Given the description of an element on the screen output the (x, y) to click on. 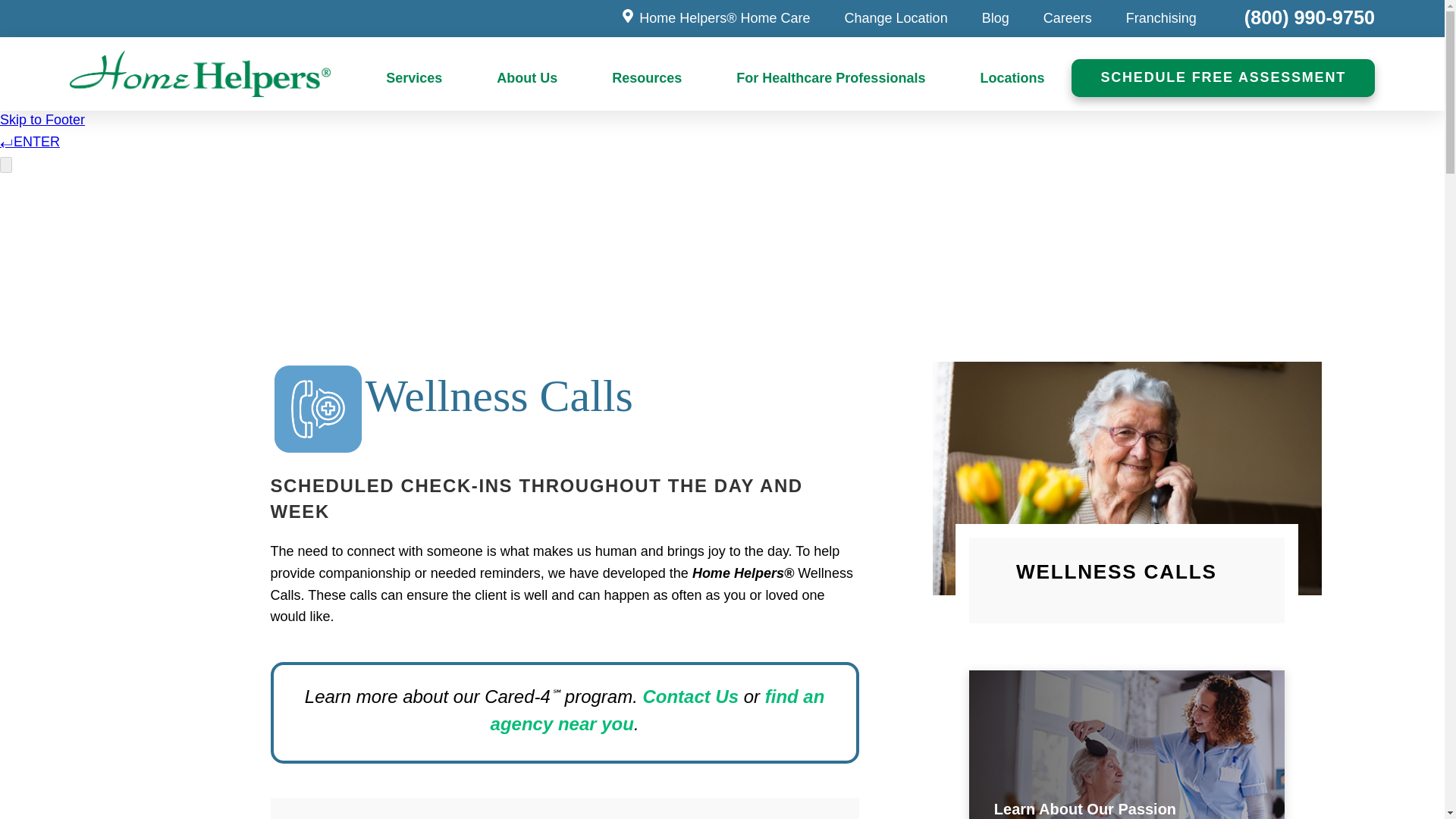
Franchising (1160, 18)
Careers (1067, 18)
Blog (995, 18)
Services (413, 79)
About Us (526, 79)
Change Location (895, 18)
